Given the description of an element on the screen output the (x, y) to click on. 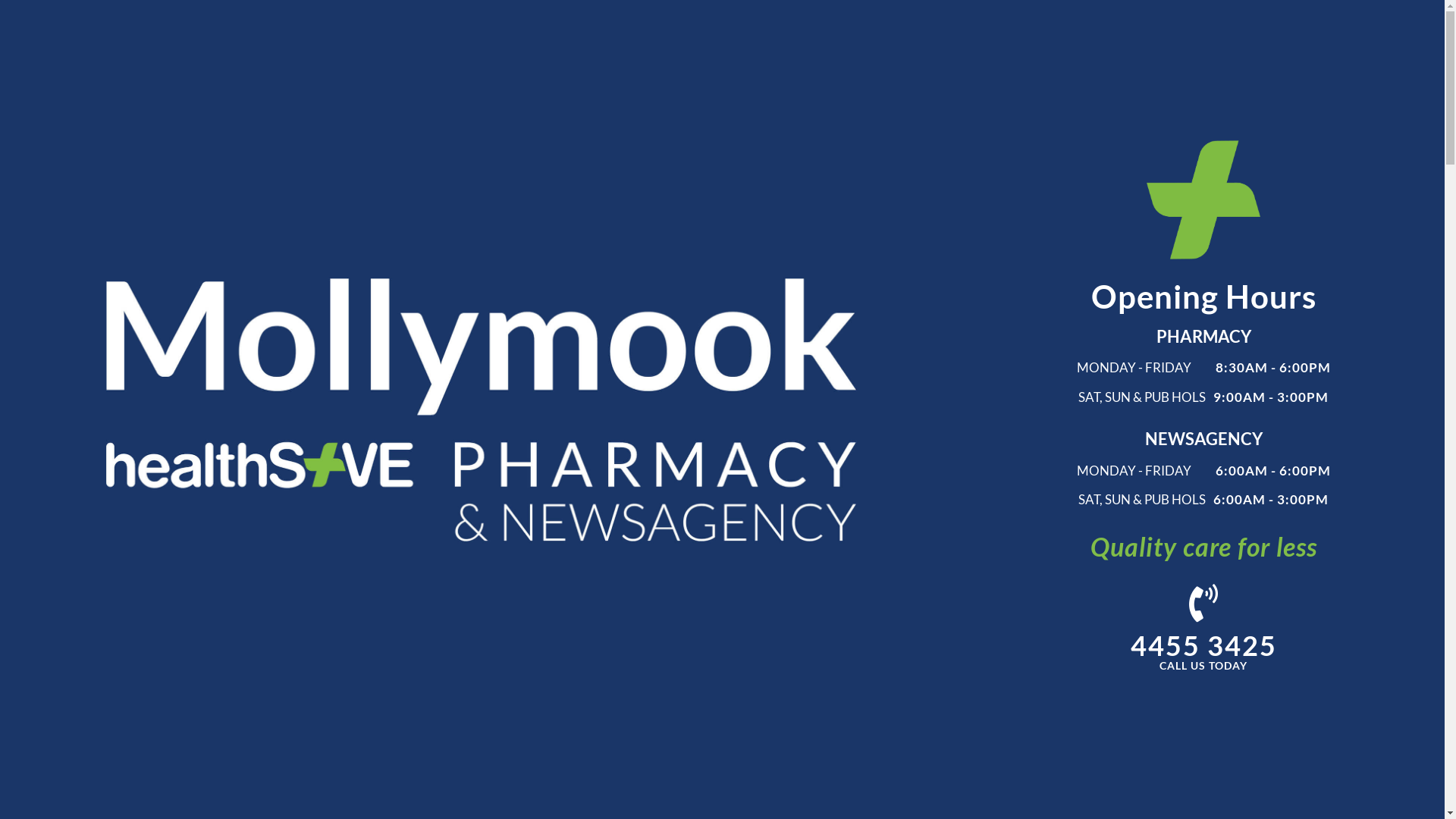
4455 3425 Element type: text (1203, 645)
